Given the description of an element on the screen output the (x, y) to click on. 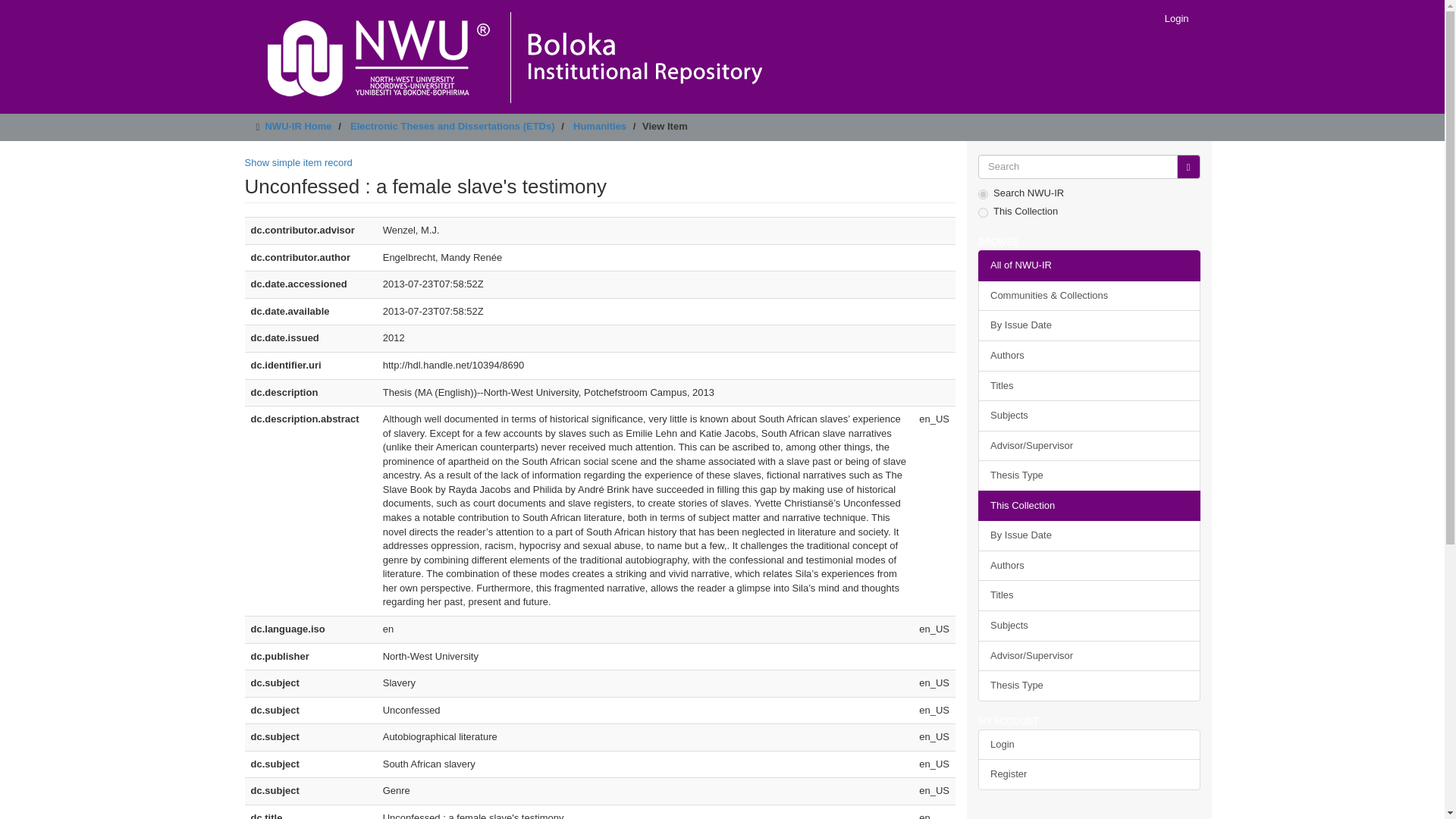
By Issue Date (1088, 535)
Thesis Type (1088, 475)
Subjects (1088, 625)
All of NWU-IR (1088, 265)
Titles (1088, 594)
This Collection (1088, 505)
Login (1176, 18)
By Issue Date (1088, 325)
Go (1187, 166)
NWU-IR Home (297, 125)
